Given the description of an element on the screen output the (x, y) to click on. 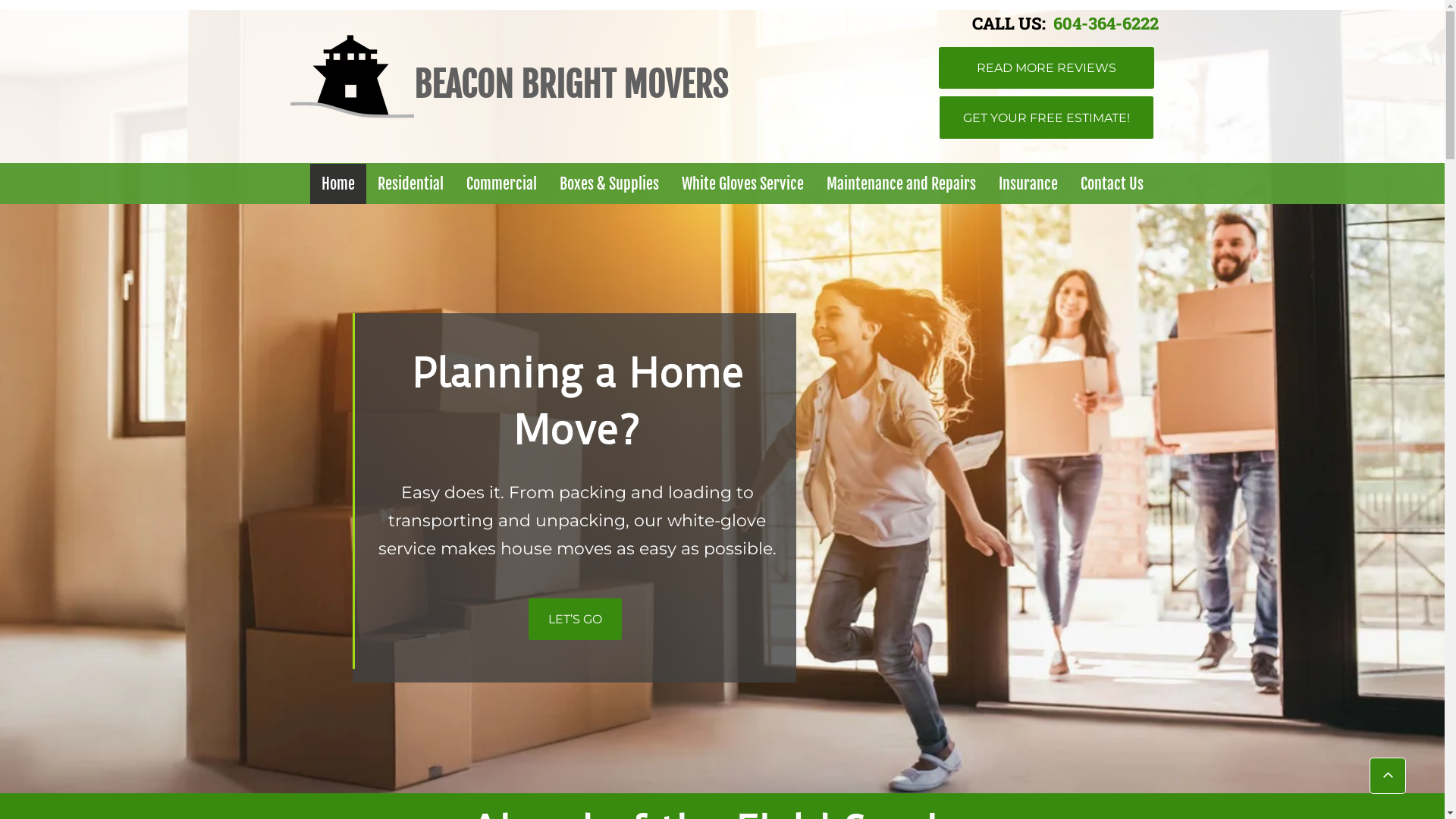
Boxes & Supplies Element type: text (609, 183)
Residential Element type: text (410, 183)
Contact Us Element type: text (1111, 183)
White Gloves Service Element type: text (742, 183)
Maintenance and Repairs Element type: text (901, 183)
GET YOUR FREE ESTIMATE! Element type: text (1046, 117)
604-364-6222 Element type: text (1103, 23)
Home Element type: text (338, 183)
BEACON BRIGHT MOVERS Element type: text (571, 84)
Insurance Element type: text (1028, 183)
Commercial Element type: text (501, 183)
READ MORE REVIEWS Element type: text (1046, 67)
